Given the description of an element on the screen output the (x, y) to click on. 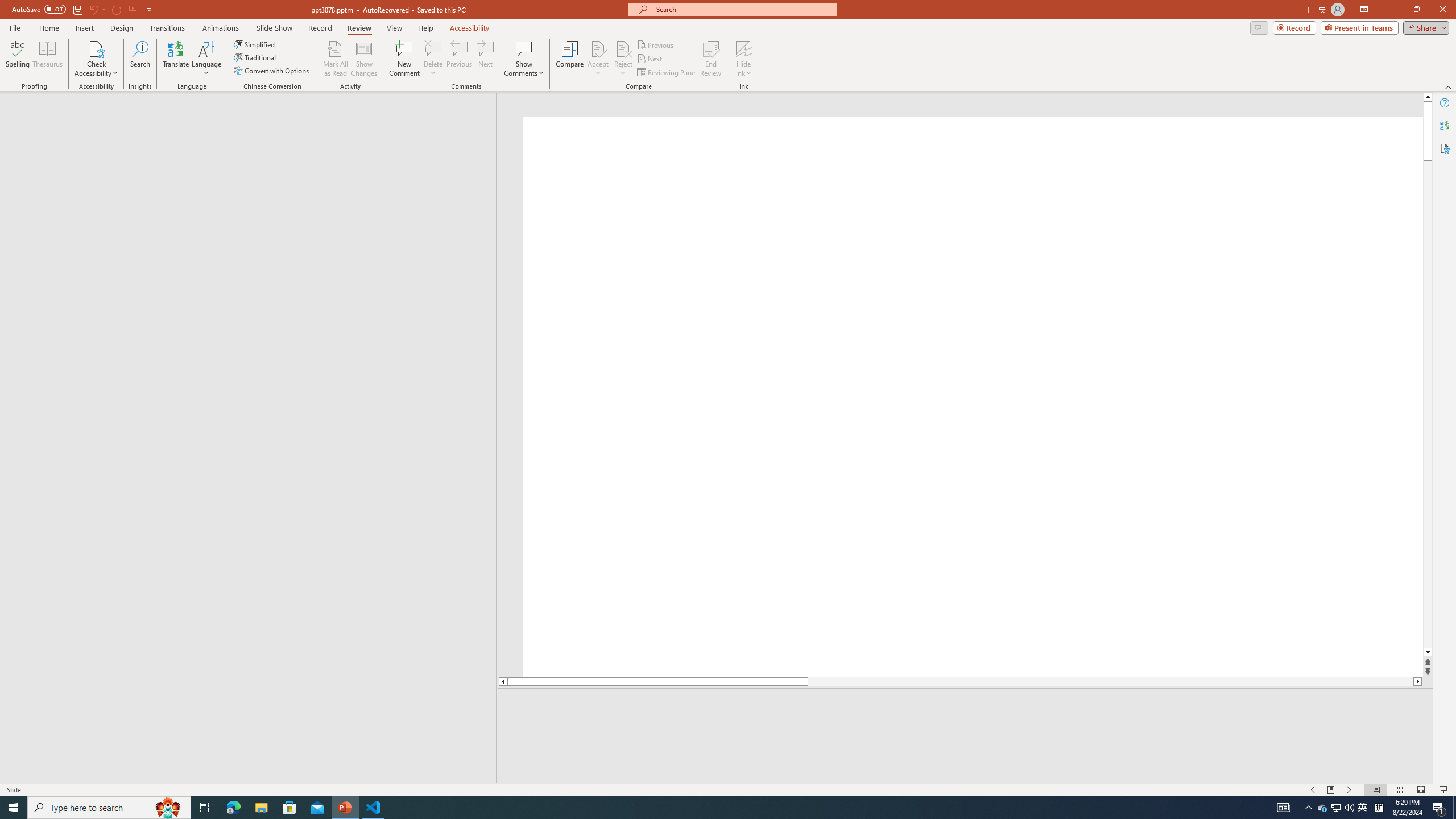
Slide Show Previous On (1313, 790)
